Given the description of an element on the screen output the (x, y) to click on. 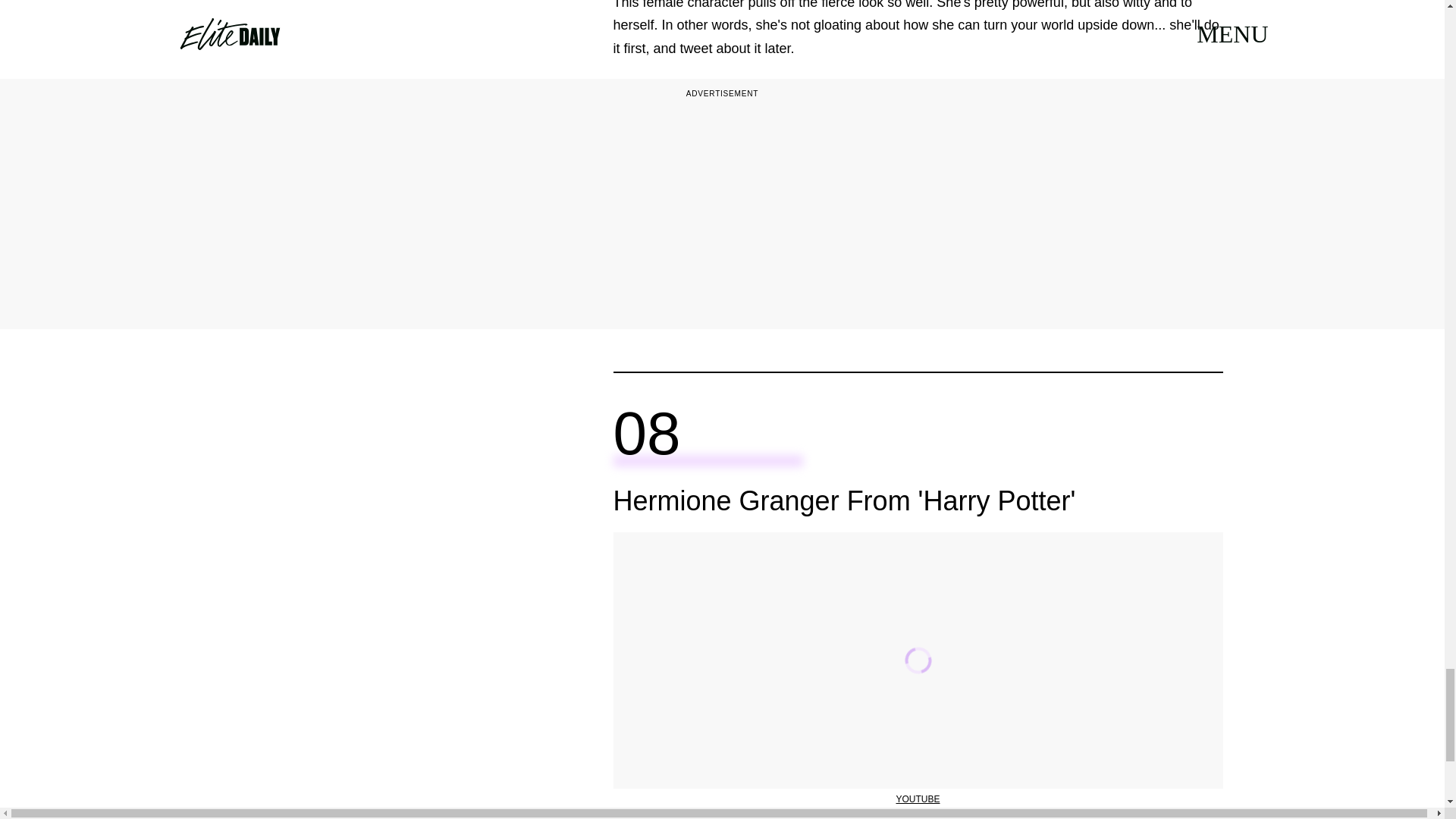
YOUTUBE (917, 798)
